Given the description of an element on the screen output the (x, y) to click on. 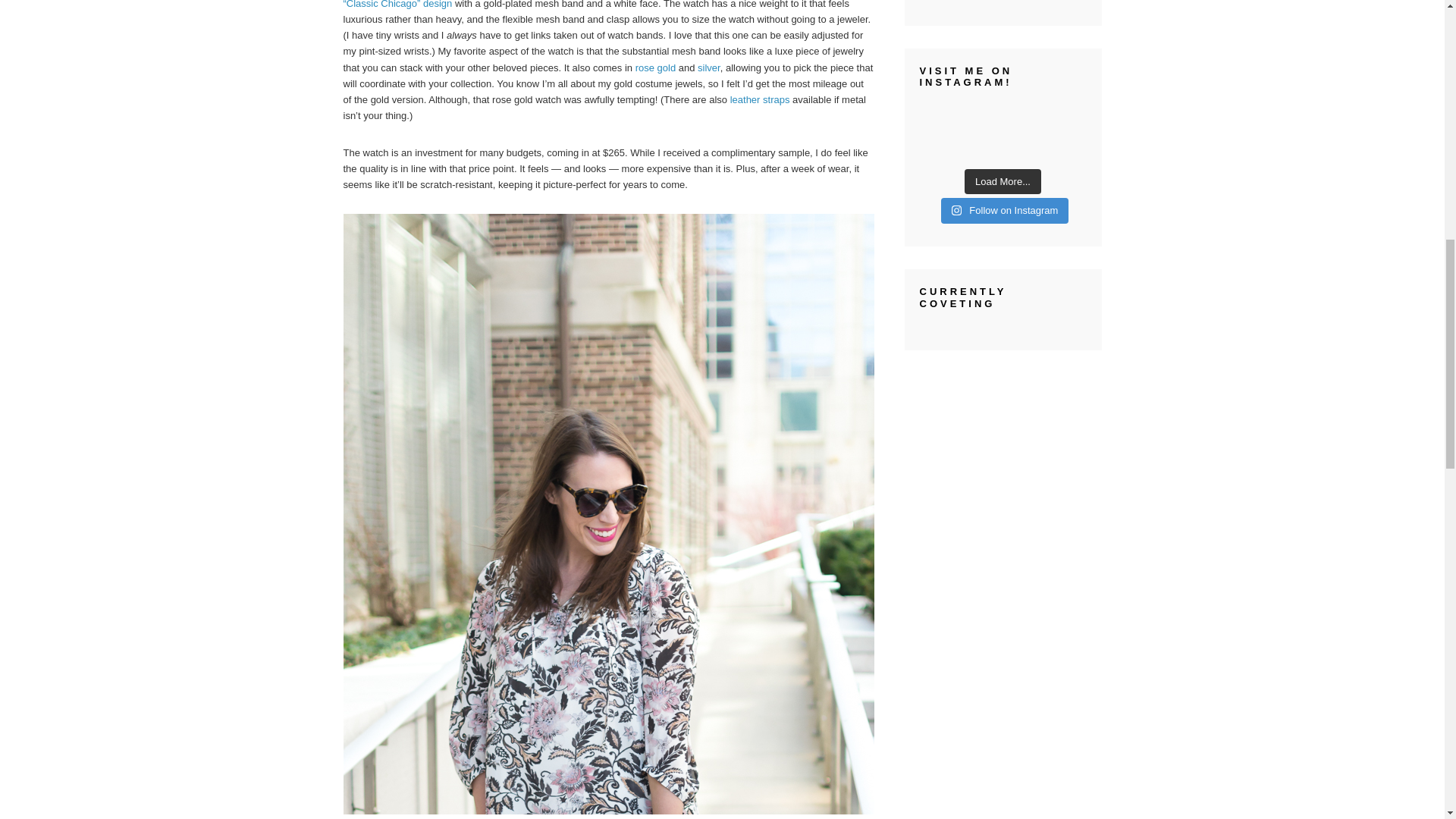
silver (708, 67)
rose gold (654, 67)
leather straps (760, 99)
